Given the description of an element on the screen output the (x, y) to click on. 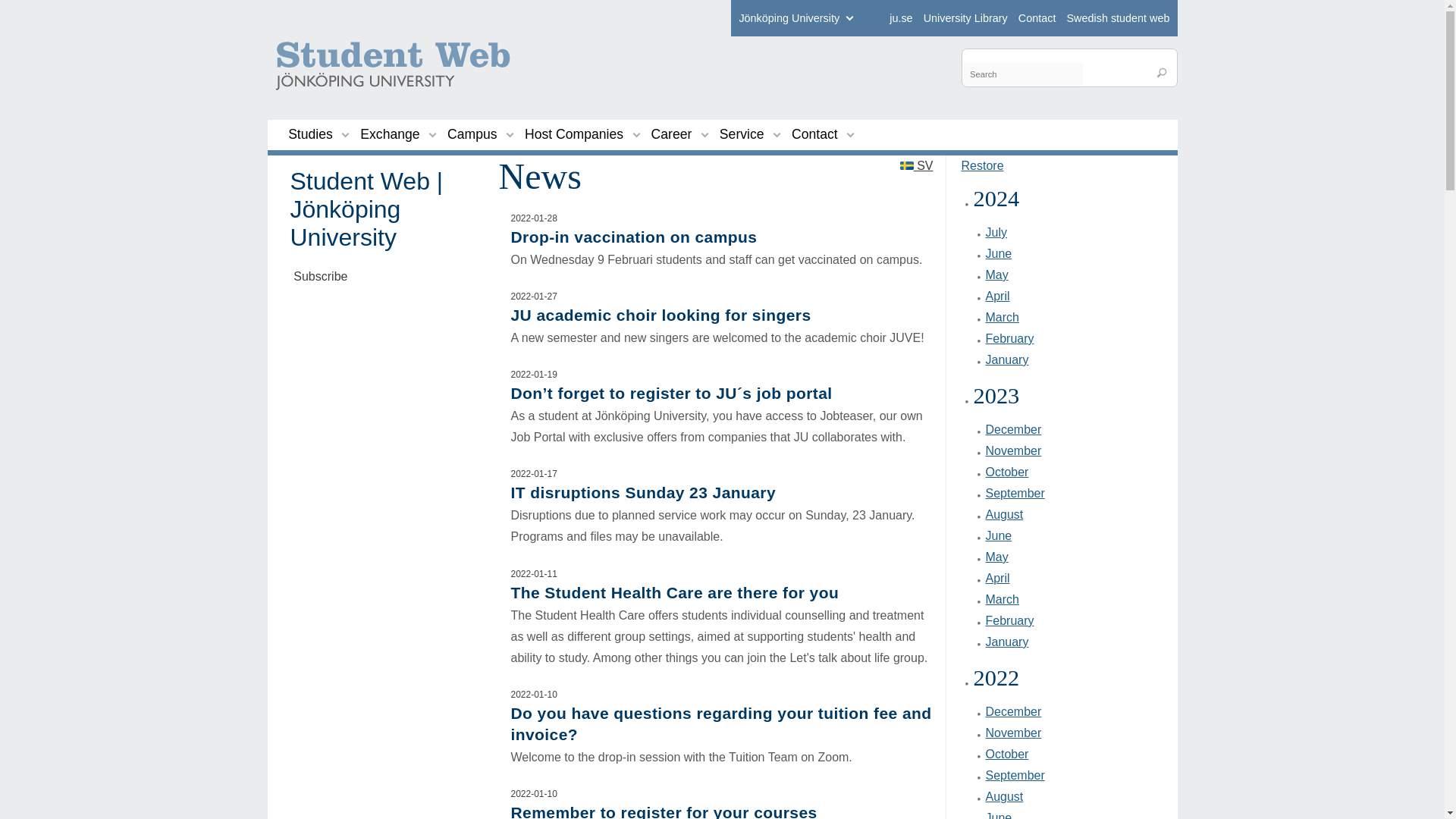
ju.se (900, 18)
Search (1162, 73)
Contact (1037, 18)
University Library (965, 18)
Expand submenu for Exchange (432, 133)
Search (1162, 73)
Search (1162, 73)
Swedish student web (1117, 18)
Expand submenu for Studies (345, 133)
Studies (310, 134)
